Given the description of an element on the screen output the (x, y) to click on. 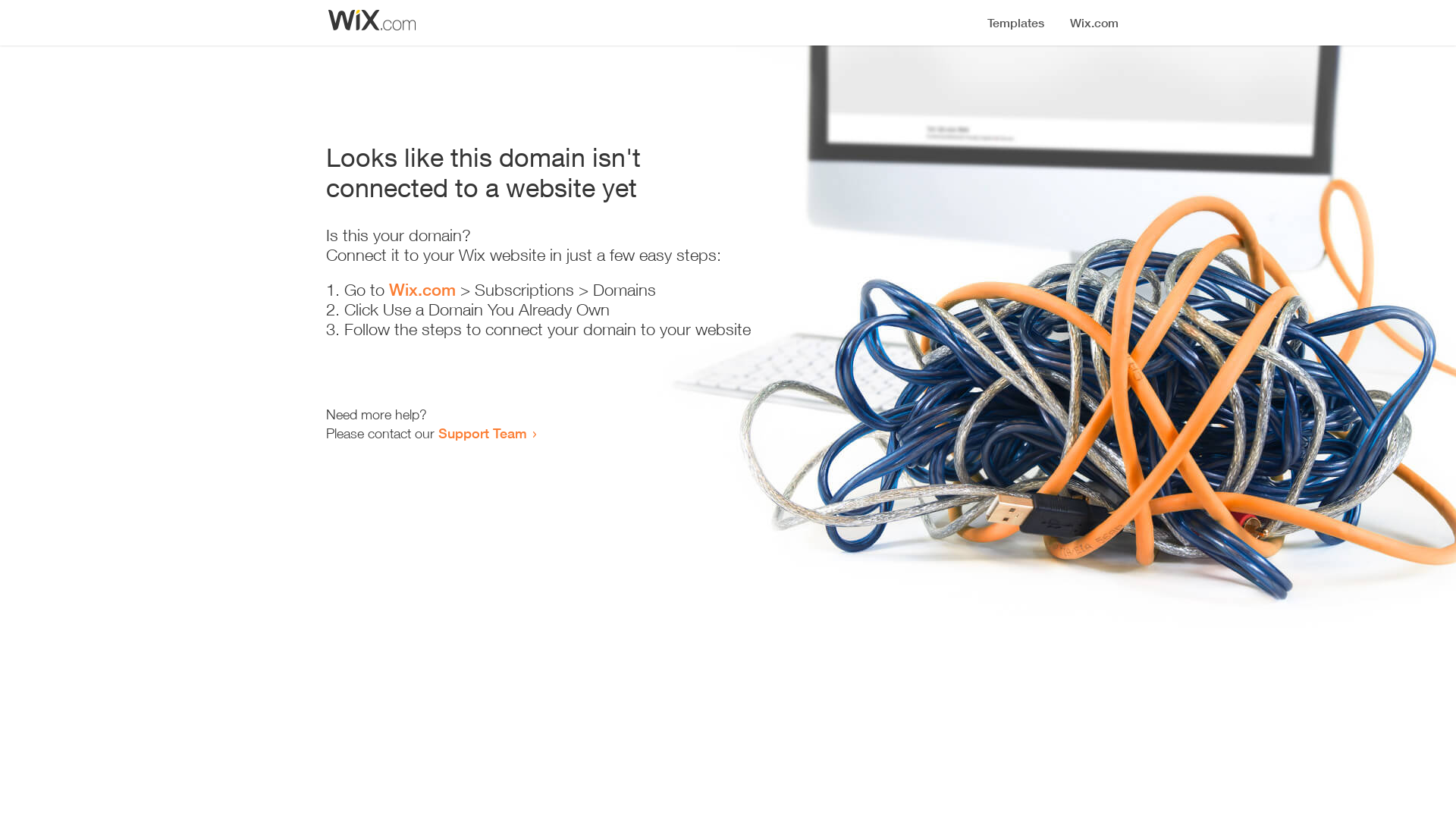
Support Team Element type: text (482, 432)
Wix.com Element type: text (422, 289)
